Given the description of an element on the screen output the (x, y) to click on. 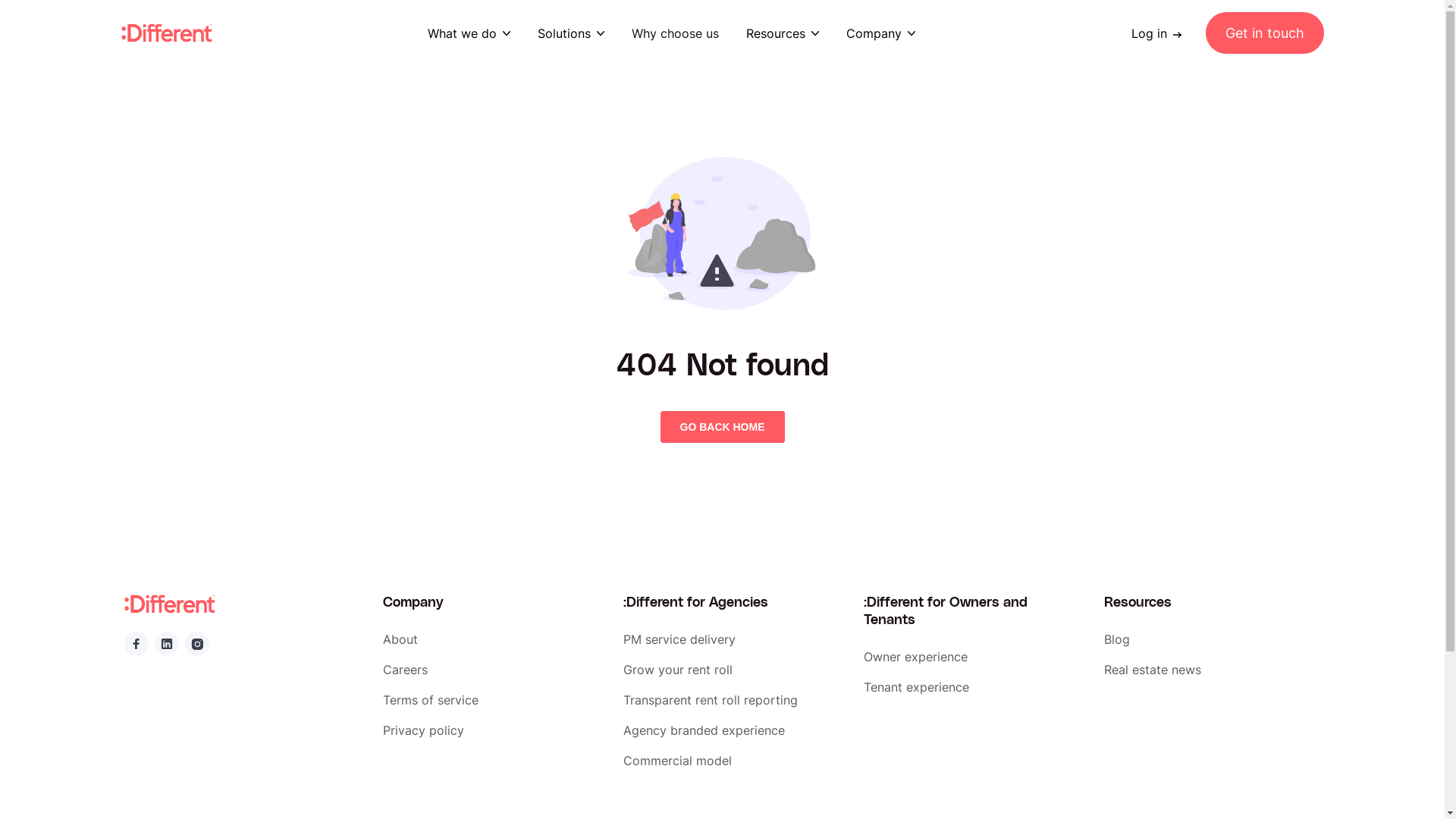
Grow your rent roll Element type: text (731, 669)
Careers Element type: text (490, 669)
Linkedin IconLinkedin button Element type: text (166, 643)
Get in touch Element type: text (1264, 32)
Agency branded experience Element type: text (731, 730)
Why choose us Element type: text (674, 33)
Facebook IconFacebook button Element type: text (136, 643)
About Element type: text (490, 639)
Real estate news Element type: text (1212, 669)
Log in Element type: text (1162, 33)
:Different Element type: text (166, 32)
Transparent rent roll reporting Element type: text (731, 699)
instagram.inlineCreated with Sketch. Element type: text (197, 643)
Owner experience Element type: text (971, 656)
:Different Element type: text (169, 603)
PM service delivery Element type: text (731, 639)
Privacy policy Element type: text (490, 730)
Blog Element type: text (1212, 639)
Terms of service Element type: text (490, 699)
Tenant experience Element type: text (971, 686)
GO BACK HOME Element type: text (721, 426)
Commercial model Element type: text (731, 760)
